Given the description of an element on the screen output the (x, y) to click on. 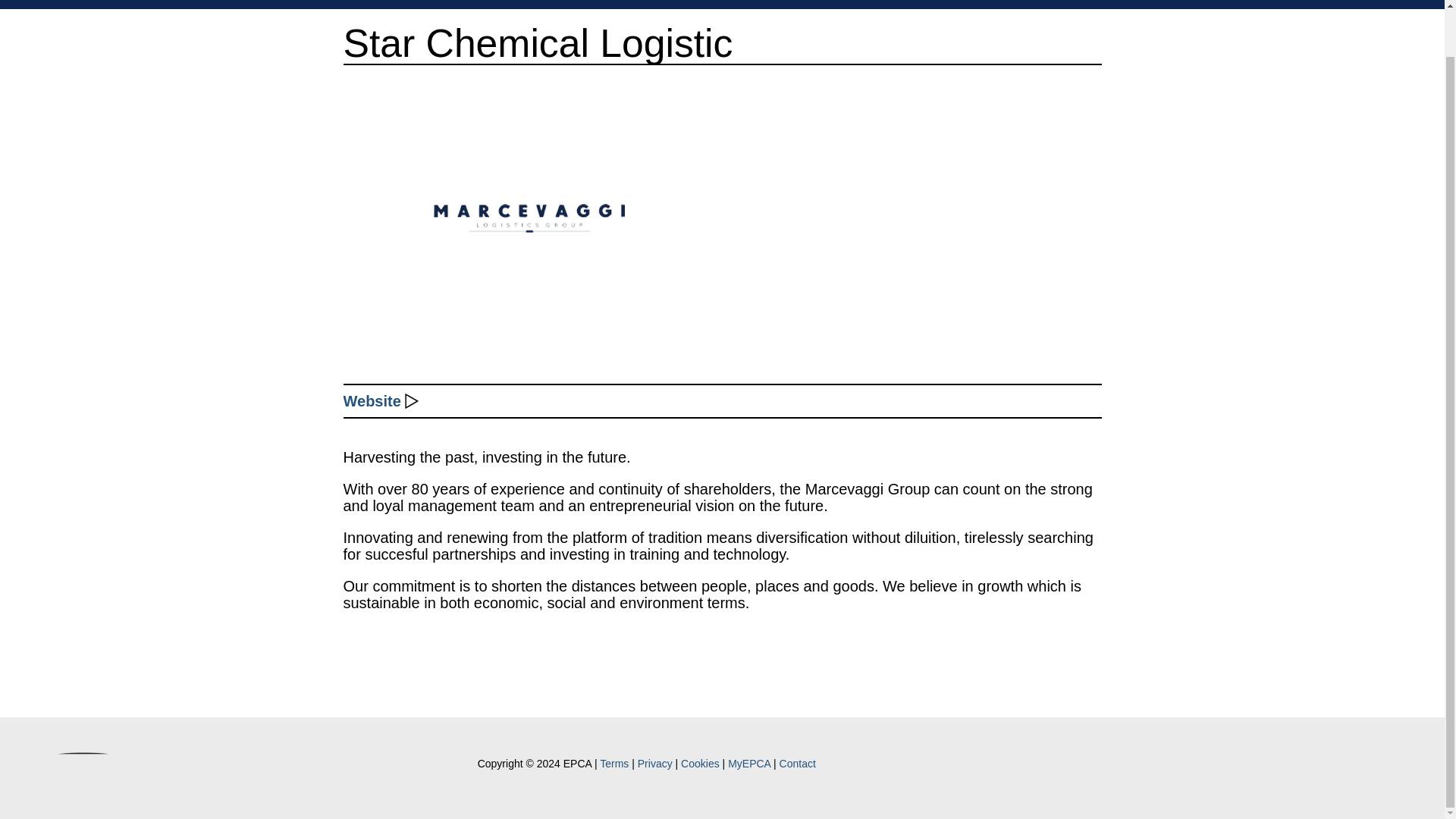
Terms (613, 763)
videos (1417, 766)
My EPCA (1302, 0)
Cookies (700, 763)
Contact (796, 763)
MyEPCA (749, 763)
About (946, 0)
Events (1163, 0)
Focus Areas (1024, 0)
Website (371, 401)
